Given the description of an element on the screen output the (x, y) to click on. 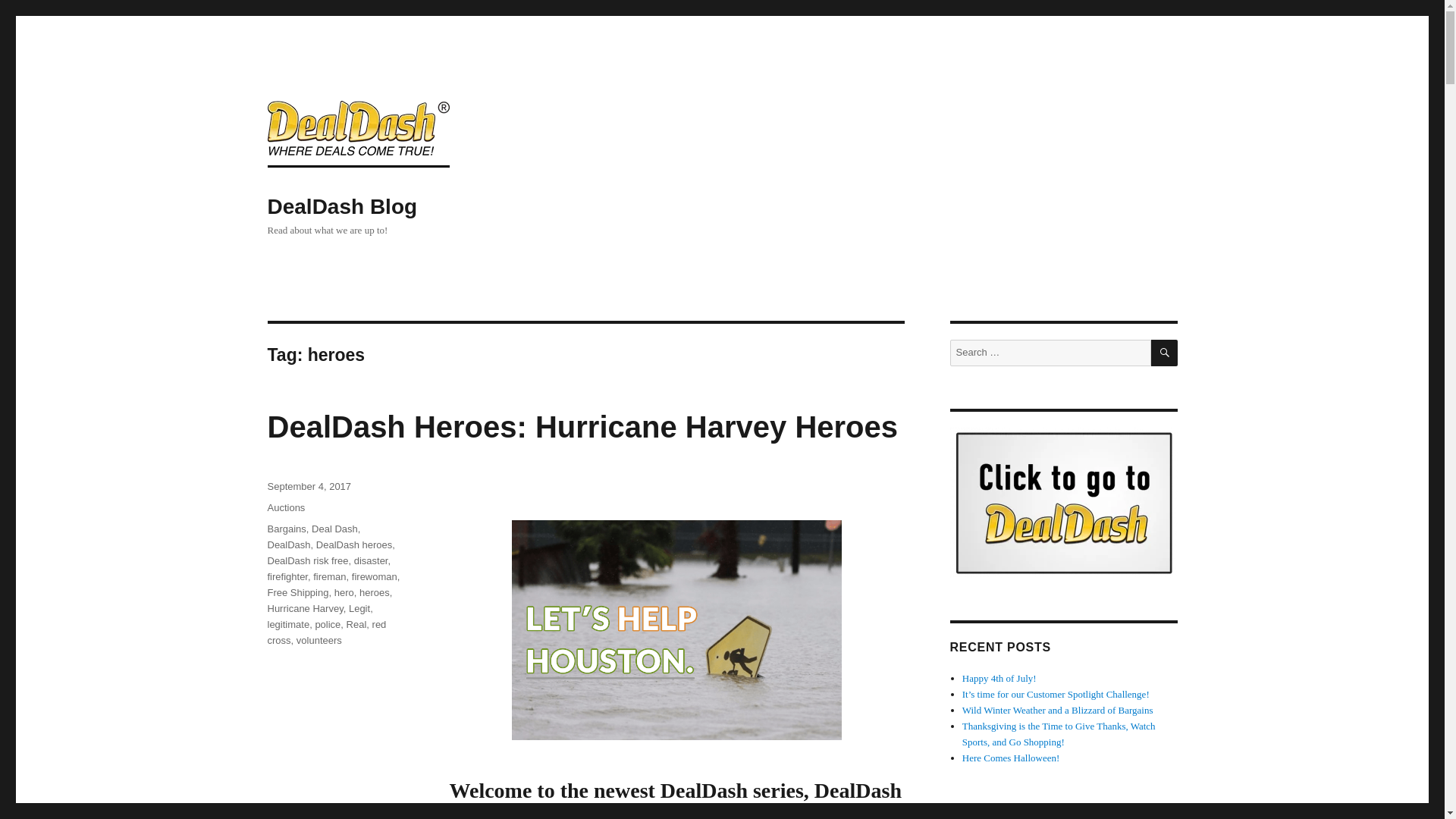
September 4, 2017 (308, 486)
DealDash heroes (353, 544)
volunteers (319, 640)
Auctions (285, 507)
fireman (329, 576)
firewoman (374, 576)
Legit (359, 608)
DealDash (288, 544)
legitimate (287, 624)
Real (356, 624)
heroes (374, 592)
DealDash Heroes: Hurricane Harvey Heroes (582, 426)
disaster (370, 560)
DealDash risk free (306, 560)
red cross (325, 632)
